Given the description of an element on the screen output the (x, y) to click on. 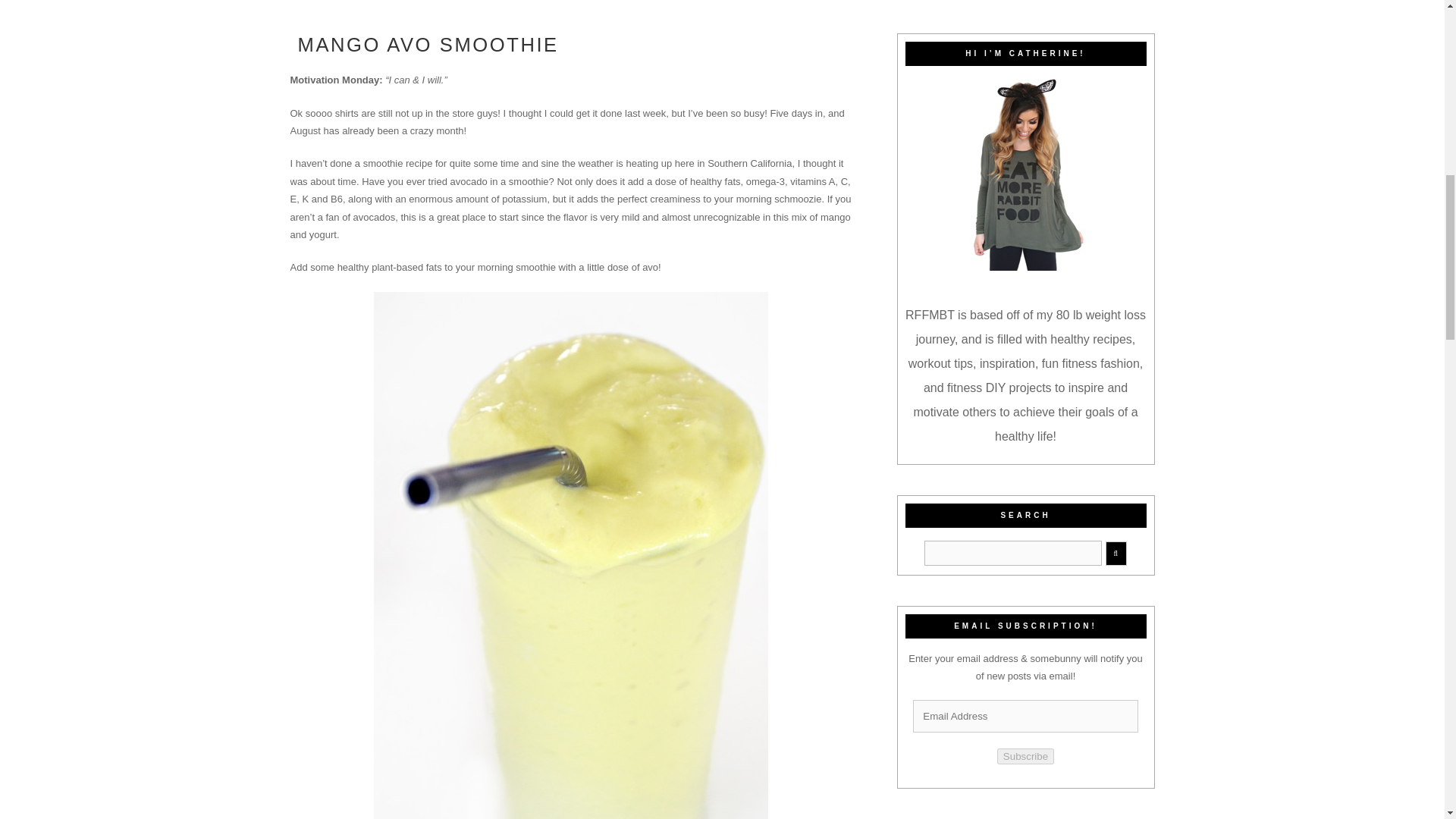
MANGO AVO SMOOTHIE (427, 44)
Search (1013, 552)
Subscribe (1025, 756)
